Given the description of an element on the screen output the (x, y) to click on. 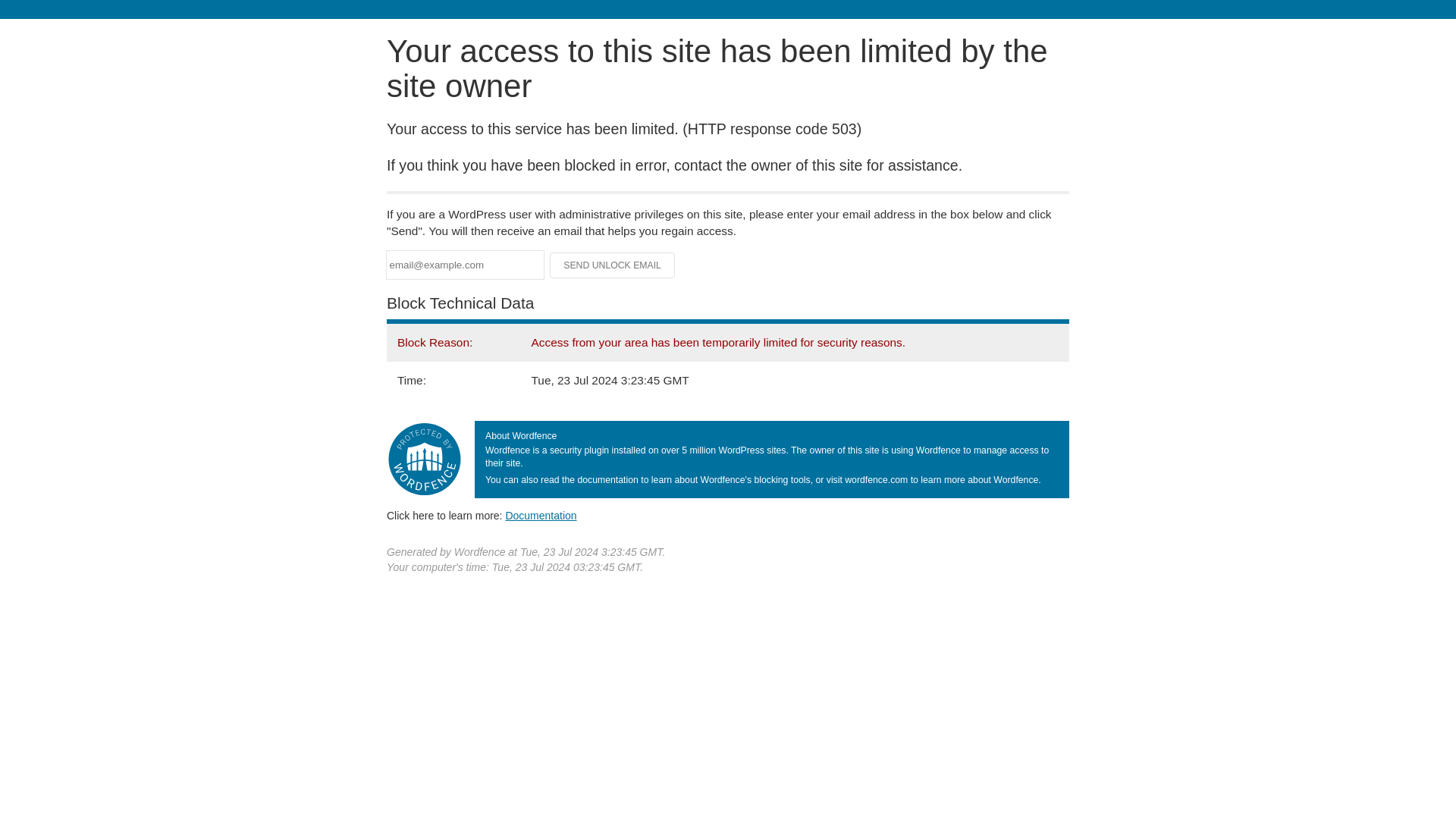
Documentation (540, 515)
Send Unlock Email (612, 265)
Send Unlock Email (612, 265)
